Given the description of an element on the screen output the (x, y) to click on. 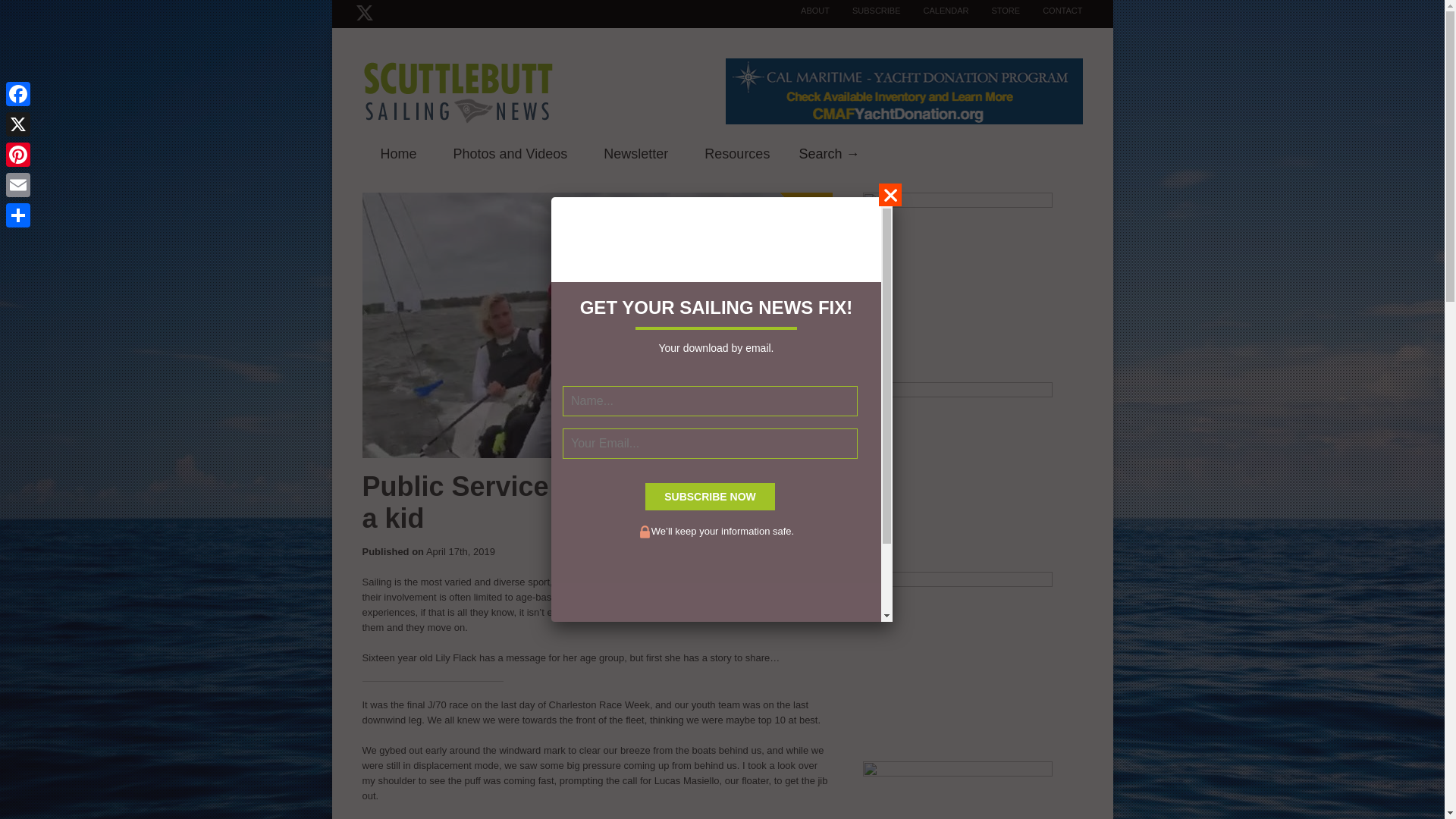
Home (398, 154)
Resources (736, 154)
SUBSCRIBE (865, 10)
Photos and Videos (510, 154)
STORE (994, 10)
ABOUT (803, 10)
CALENDAR (935, 10)
CONTACT (1050, 10)
Newsletter (635, 154)
Feature (828, 151)
Subscribe NOW (709, 496)
